Given the description of an element on the screen output the (x, y) to click on. 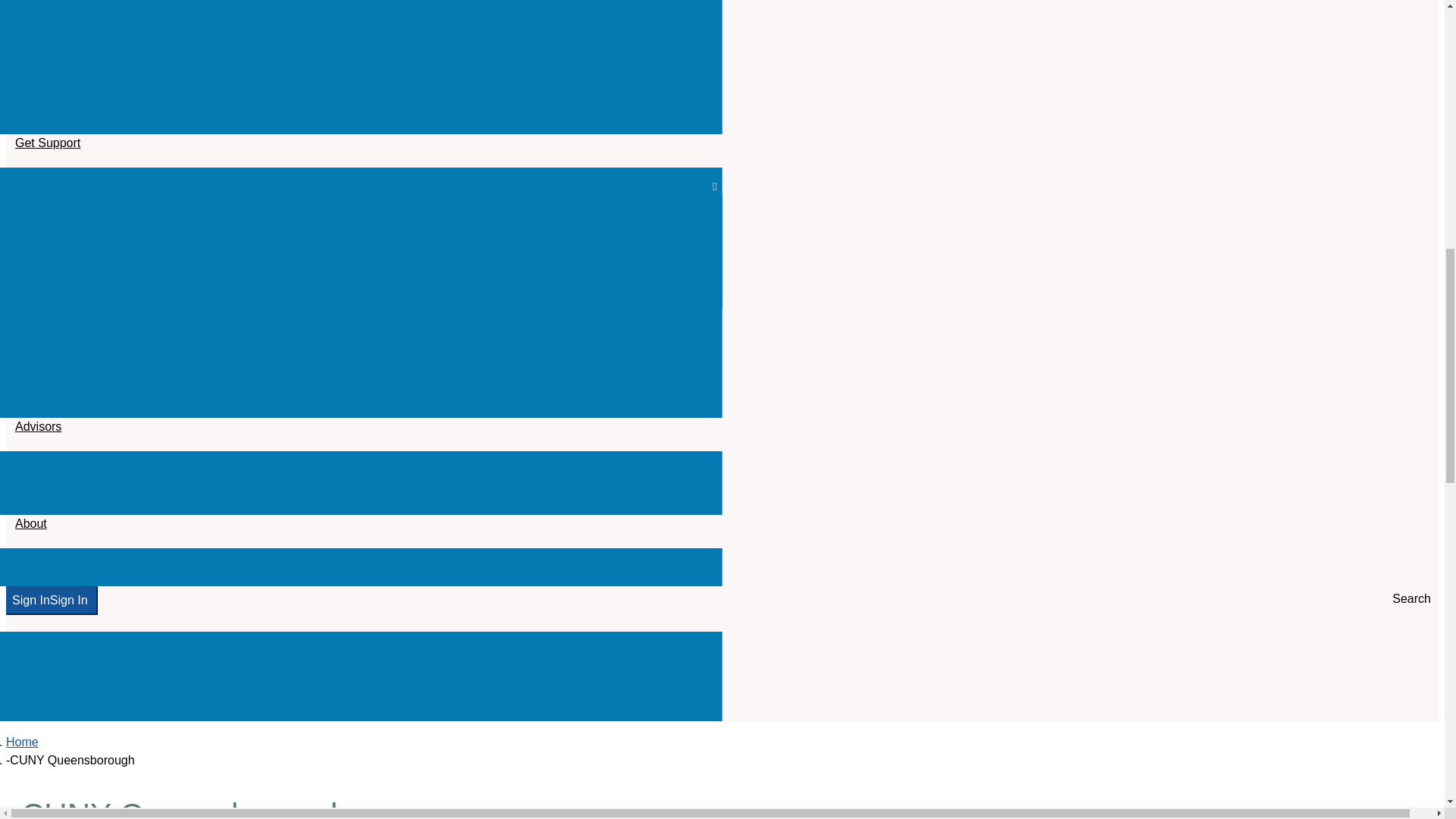
Evaluators (361, 372)
Supporting Document Inquiry (361, 263)
Submit an Appeal (361, 237)
Application Guide (361, 12)
Advisors (361, 347)
Course Listings (361, 89)
Contact (361, 321)
Support Forms (361, 212)
Advisors (37, 403)
After Submitting (361, 114)
